Given the description of an element on the screen output the (x, y) to click on. 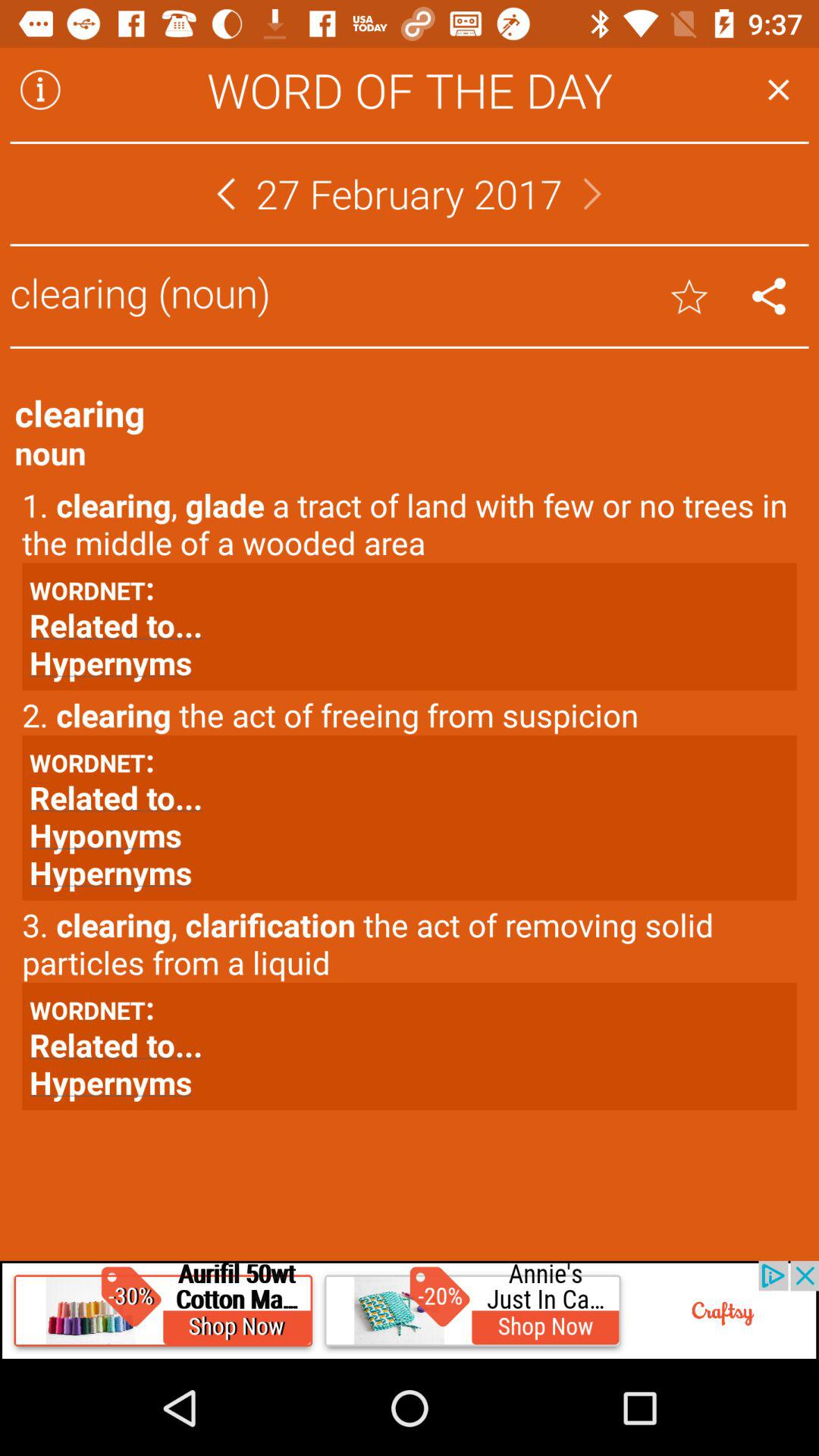
click to rate (689, 296)
